Given the description of an element on the screen output the (x, y) to click on. 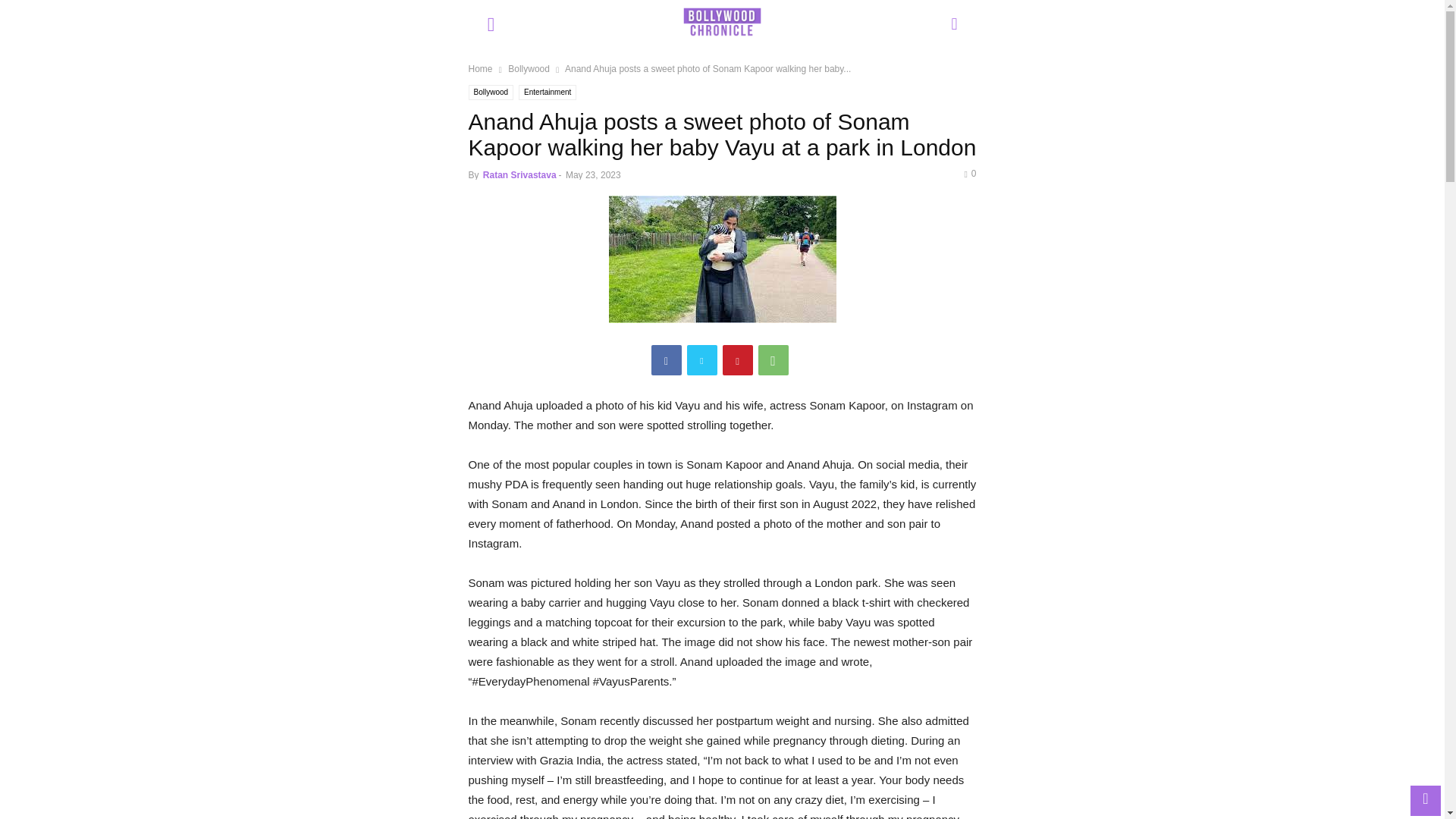
Entertainment (547, 92)
Twitter (702, 359)
WhatsApp (773, 359)
download - 2023-05-24T175412.769 (722, 258)
Bollywood (490, 92)
Facebook (665, 359)
Ratan Srivastava (519, 174)
Bollywood (529, 68)
View all posts in Bollywood (529, 68)
Home (480, 68)
Pinterest (737, 359)
0 (969, 173)
